Given the description of an element on the screen output the (x, y) to click on. 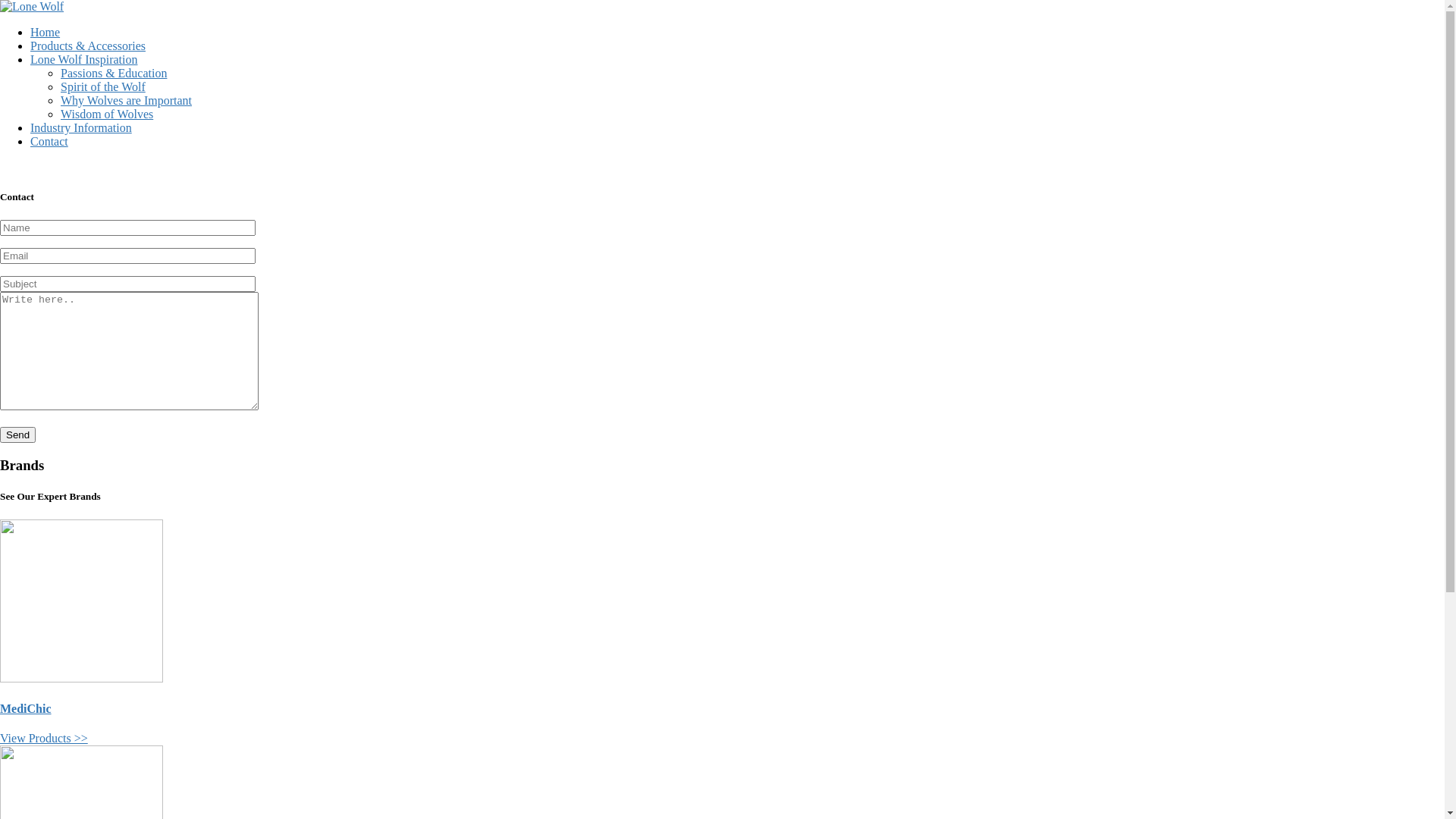
Contact Element type: text (49, 140)
Home Element type: text (44, 31)
MediChic Element type: text (25, 708)
Spirit of the Wolf Element type: text (102, 86)
Products & Accessories Element type: text (87, 45)
Passions & Education Element type: text (113, 72)
Why Wolves are Important Element type: text (125, 100)
Send Element type: text (17, 434)
Wisdom of Wolves Element type: text (106, 113)
Lone Wolf Element type: hover (31, 6)
View Products >> Element type: text (43, 737)
Industry Information Element type: text (80, 127)
Lone Wolf Inspiration Element type: text (84, 59)
